Given the description of an element on the screen output the (x, y) to click on. 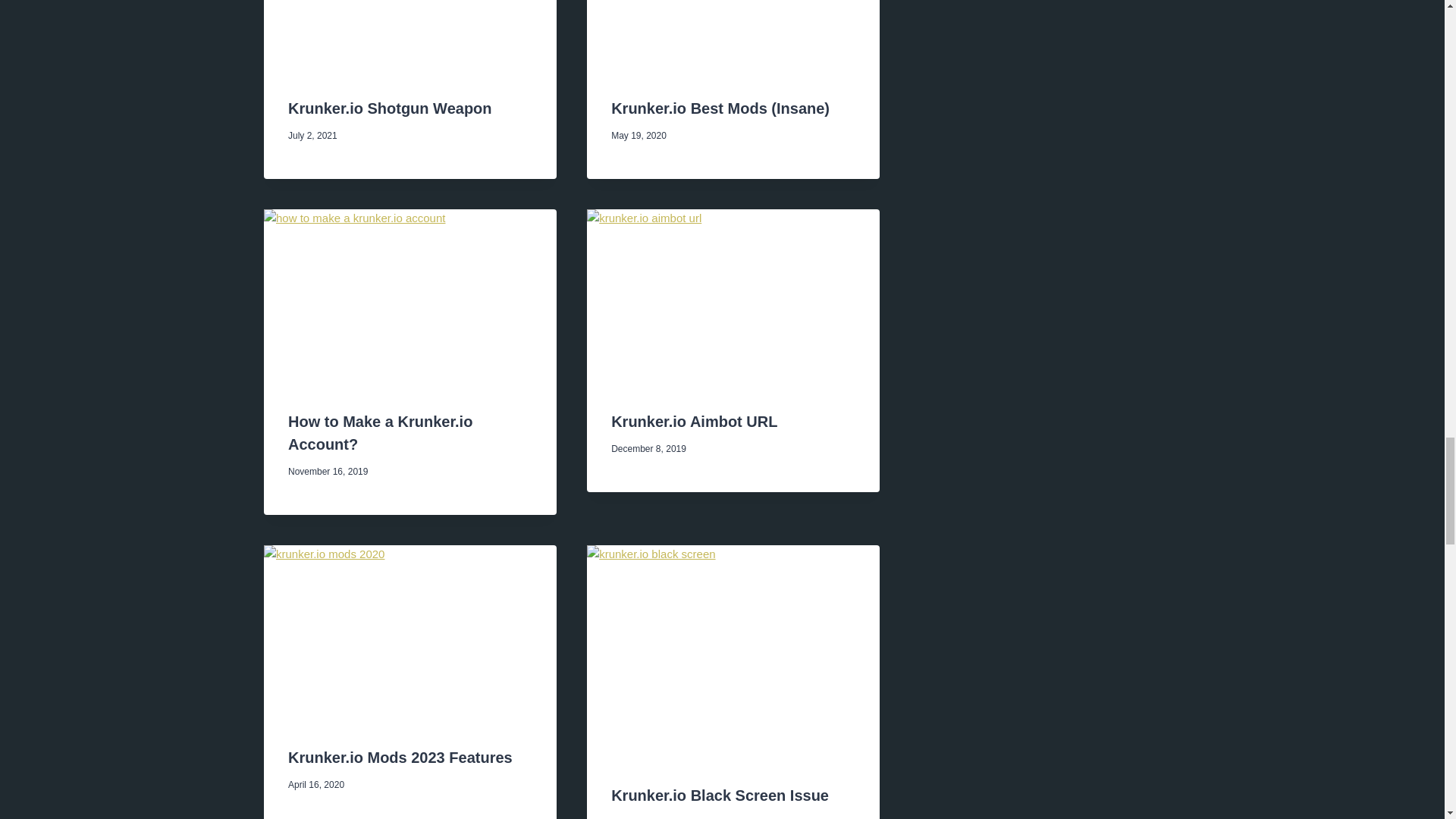
Krunker.io Shotgun Weapon (390, 108)
Krunker.io Aimbot URL (694, 421)
How to Make a Krunker.io Account? (379, 432)
